Given the description of an element on the screen output the (x, y) to click on. 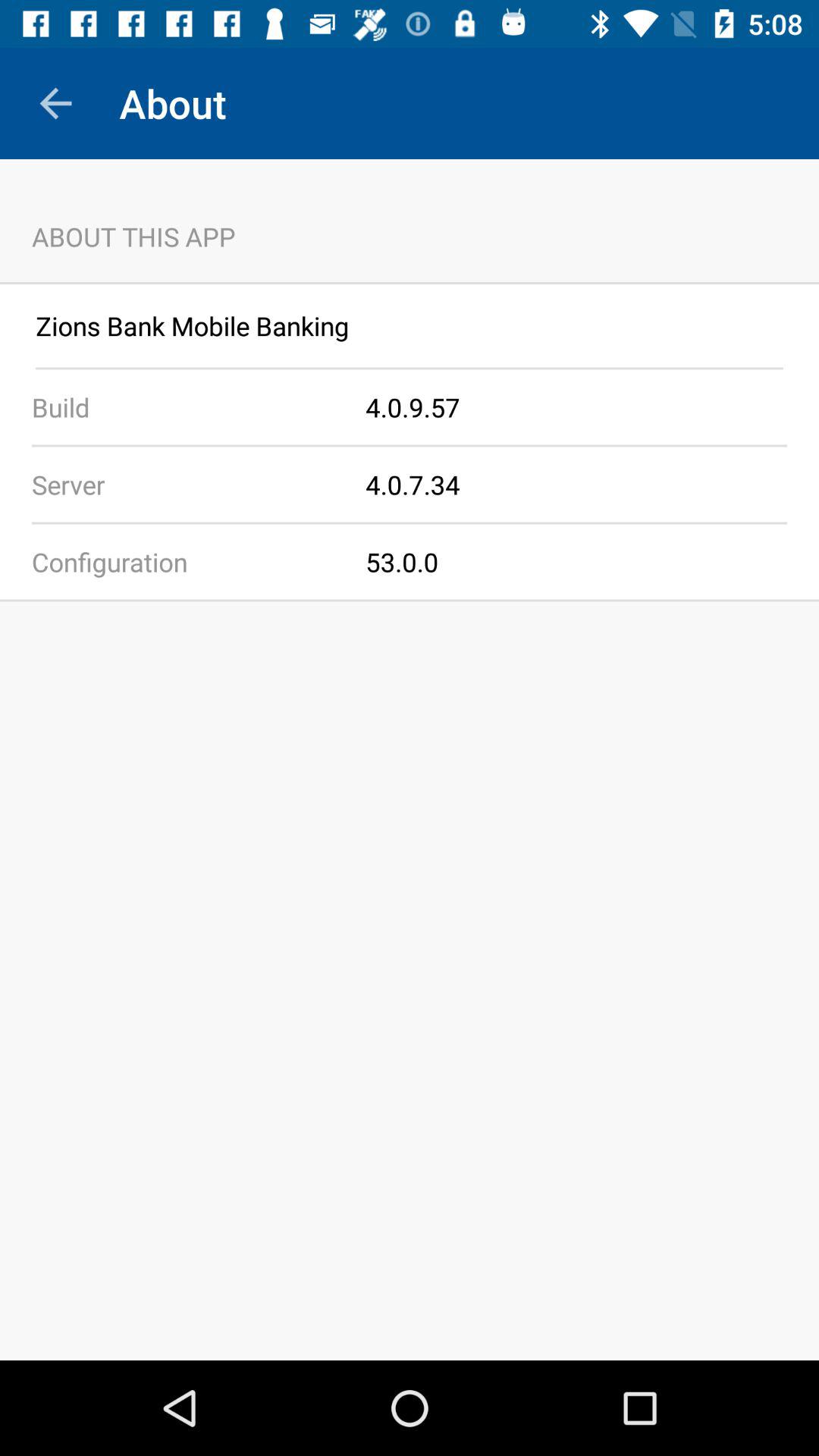
turn off icon above zions bank mobile (409, 283)
